Given the description of an element on the screen output the (x, y) to click on. 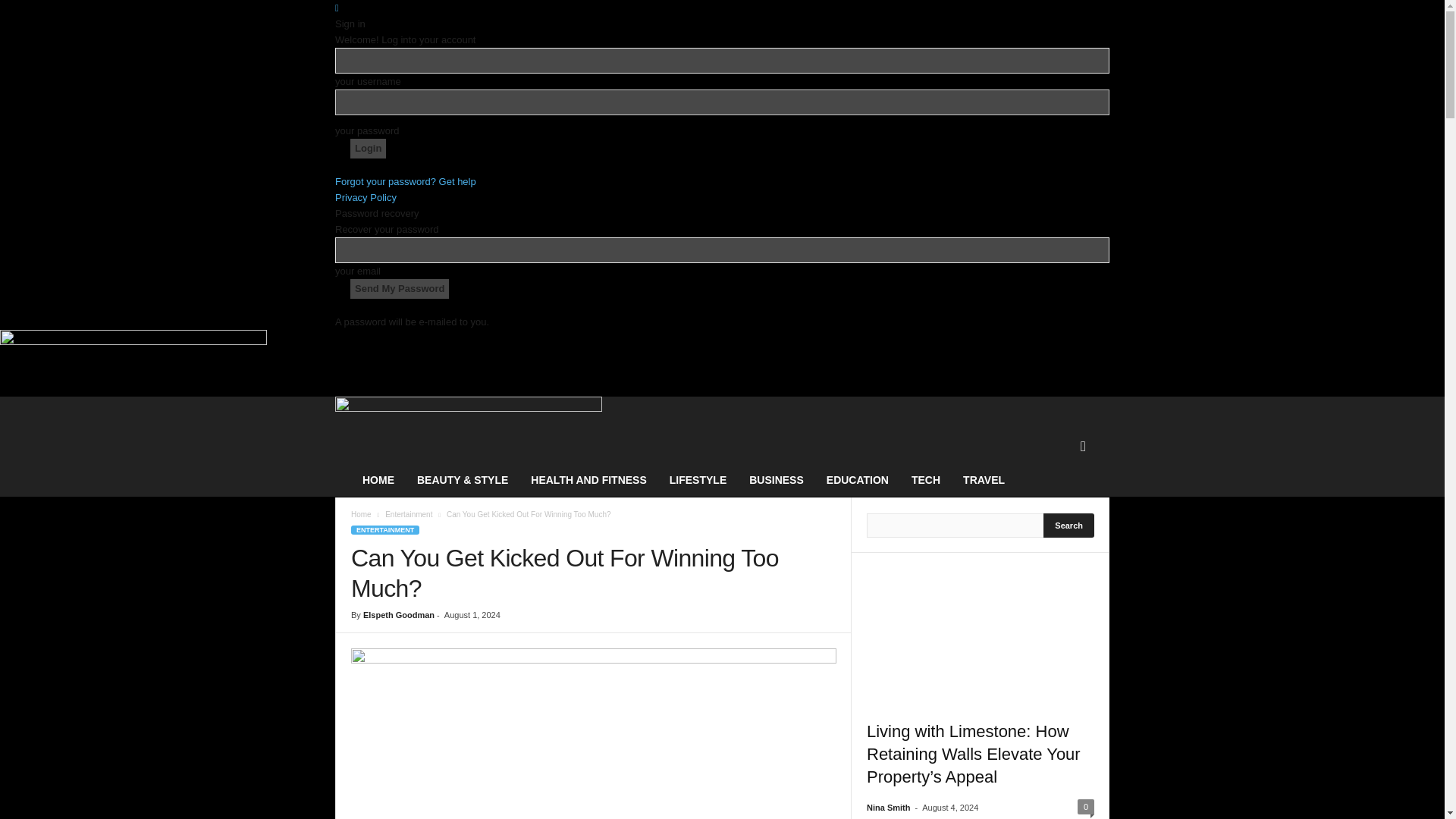
HOME (378, 479)
Search (1068, 525)
EDUCATION (857, 479)
Forgot your password? Get help (405, 181)
Entertainment (408, 514)
TECH (925, 479)
Login (367, 148)
LIFESTYLE (698, 479)
Privacy Policy (365, 197)
HEALTH AND FITNESS (588, 479)
TRAVEL (984, 479)
BUSINESS (776, 479)
View all posts in Entertainment (408, 514)
gambling (592, 733)
Send My Password (399, 288)
